Given the description of an element on the screen output the (x, y) to click on. 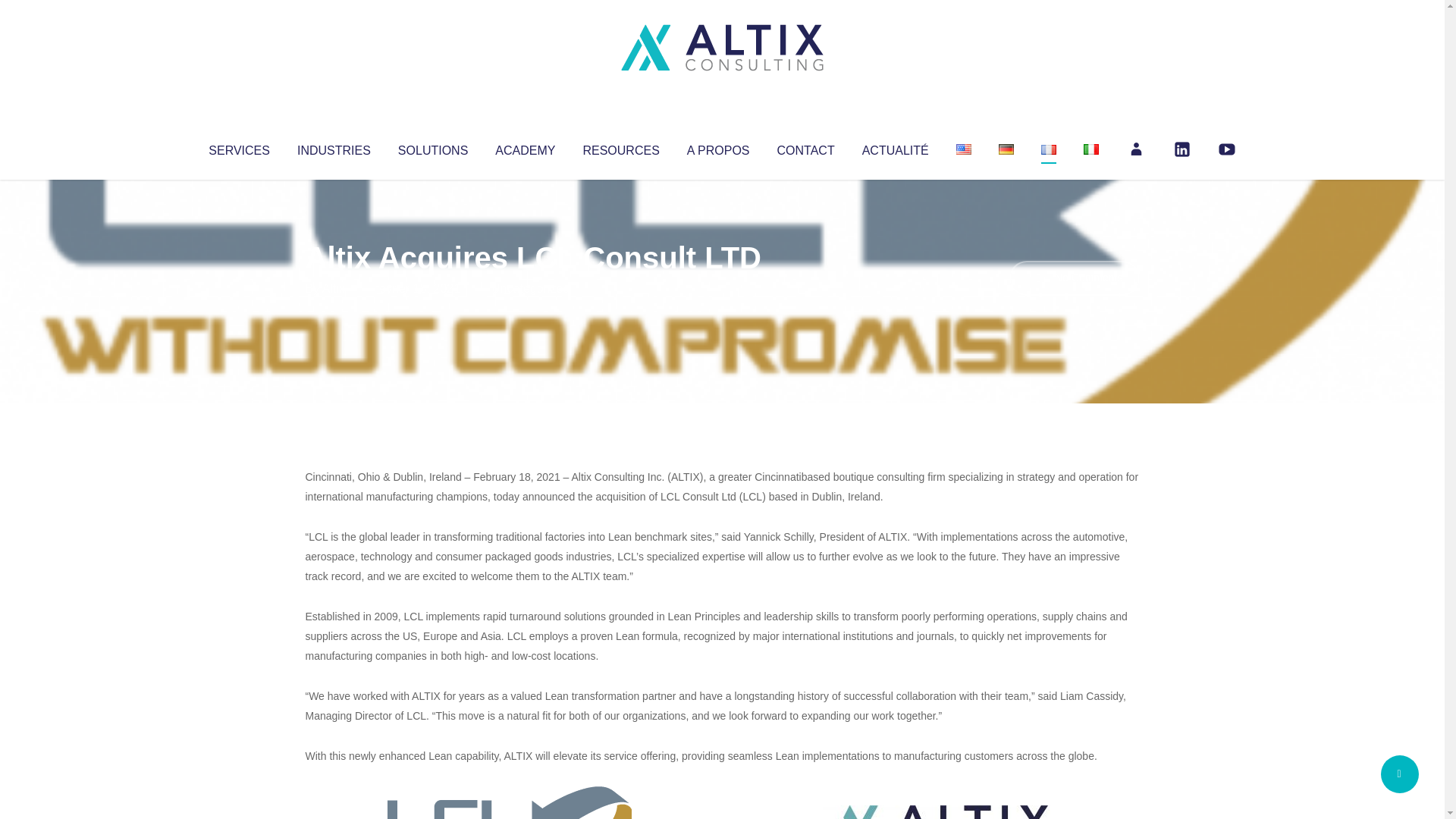
INDUSTRIES (334, 146)
No Comments (1073, 278)
Uncategorized (530, 287)
SERVICES (238, 146)
Articles par Altix (333, 287)
RESOURCES (620, 146)
ACADEMY (524, 146)
A PROPOS (718, 146)
Altix (333, 287)
SOLUTIONS (432, 146)
